Given the description of an element on the screen output the (x, y) to click on. 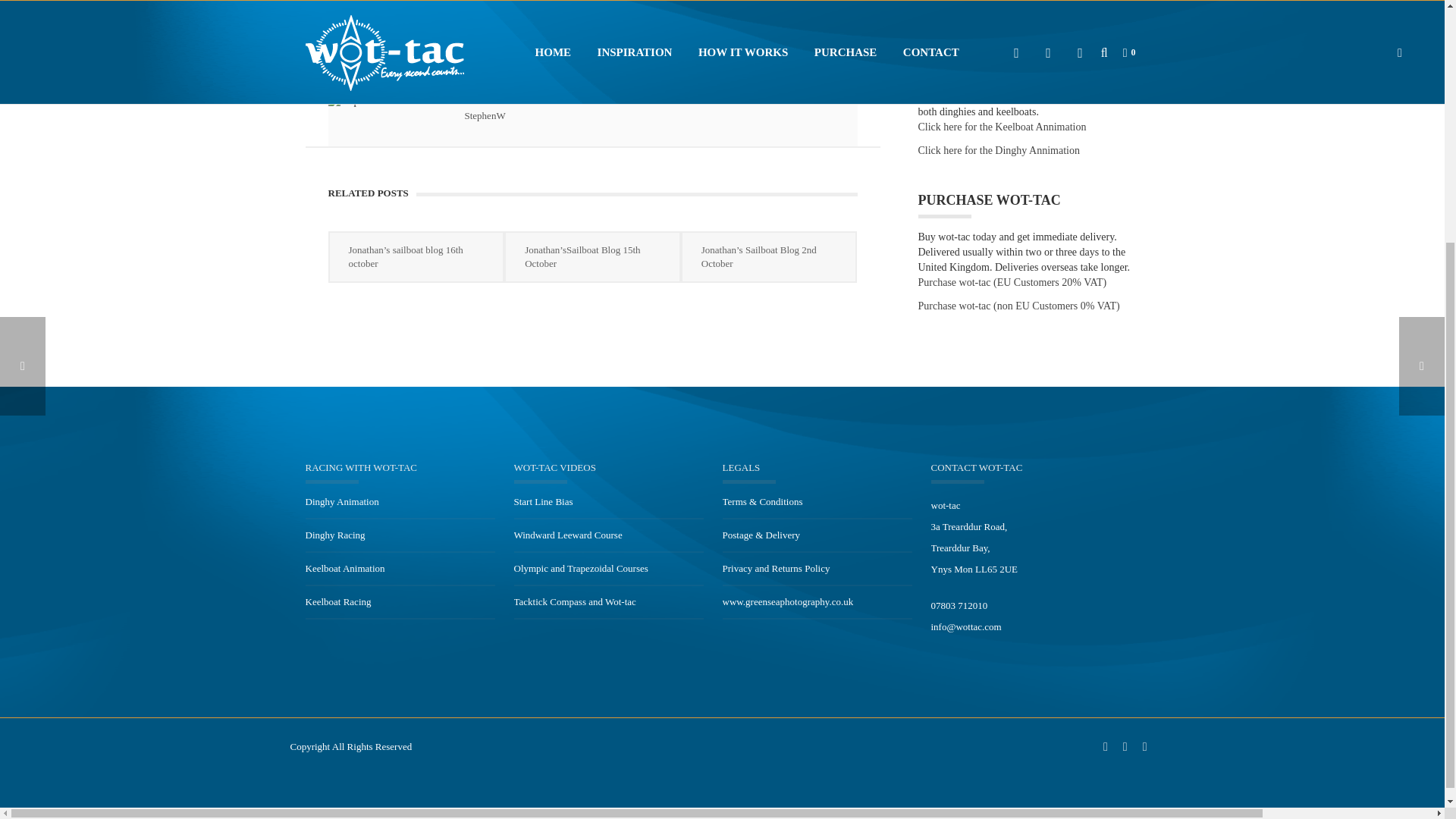
Click here for the Keelboat Annimation (1001, 127)
Click here for the Dinghy Animation (997, 151)
